Given the description of an element on the screen output the (x, y) to click on. 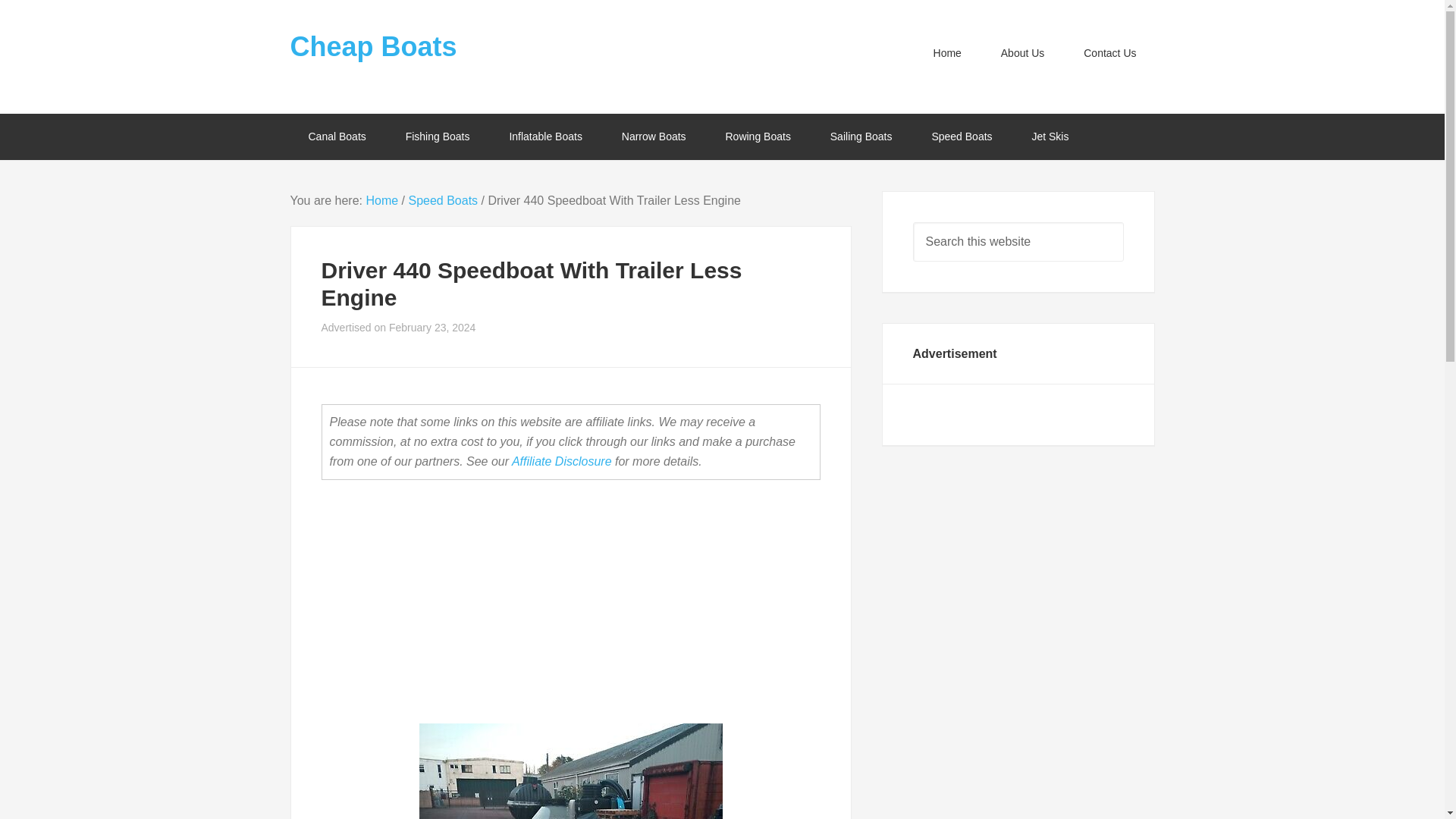
Jet Skis (1049, 136)
Link to Affiliate Disclosure (561, 461)
Canal Boats (336, 136)
Fishing Boats (437, 136)
Inflatable Boats (544, 136)
Narrow Boats (654, 136)
Speed Boats (442, 200)
Home (947, 53)
Sailing Boats (861, 136)
Home (381, 200)
Affiliate Disclosure (561, 461)
Contact Us (1109, 53)
Rowing Boats (757, 136)
